Given the description of an element on the screen output the (x, y) to click on. 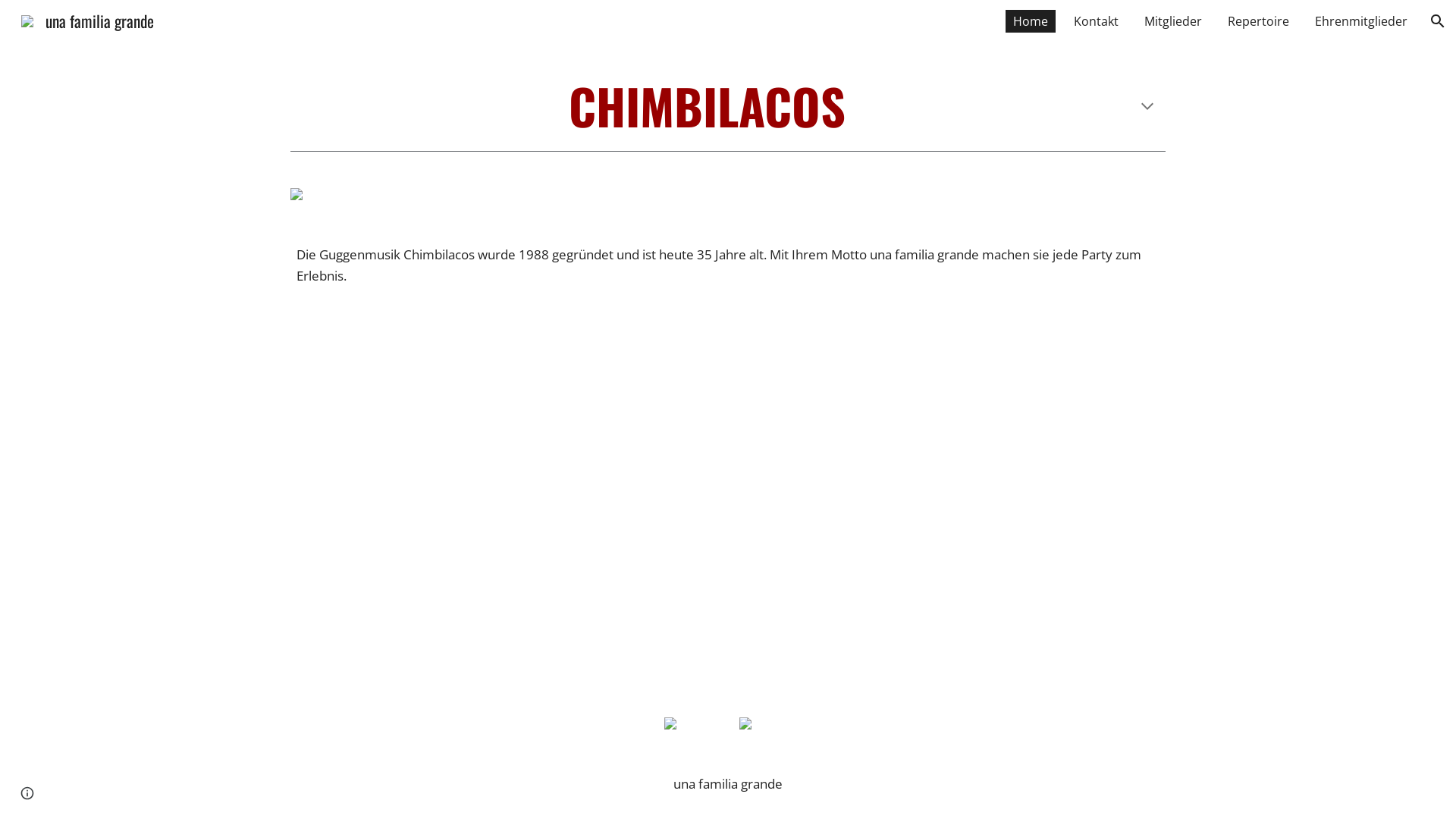
una familia grande Element type: text (87, 18)
Ehrenmitglieder Element type: text (1361, 20)
Home Element type: text (1030, 20)
Kontakt Element type: text (1096, 20)
Repertoire Element type: text (1258, 20)
Mitglieder Element type: text (1172, 20)
